Given the description of an element on the screen output the (x, y) to click on. 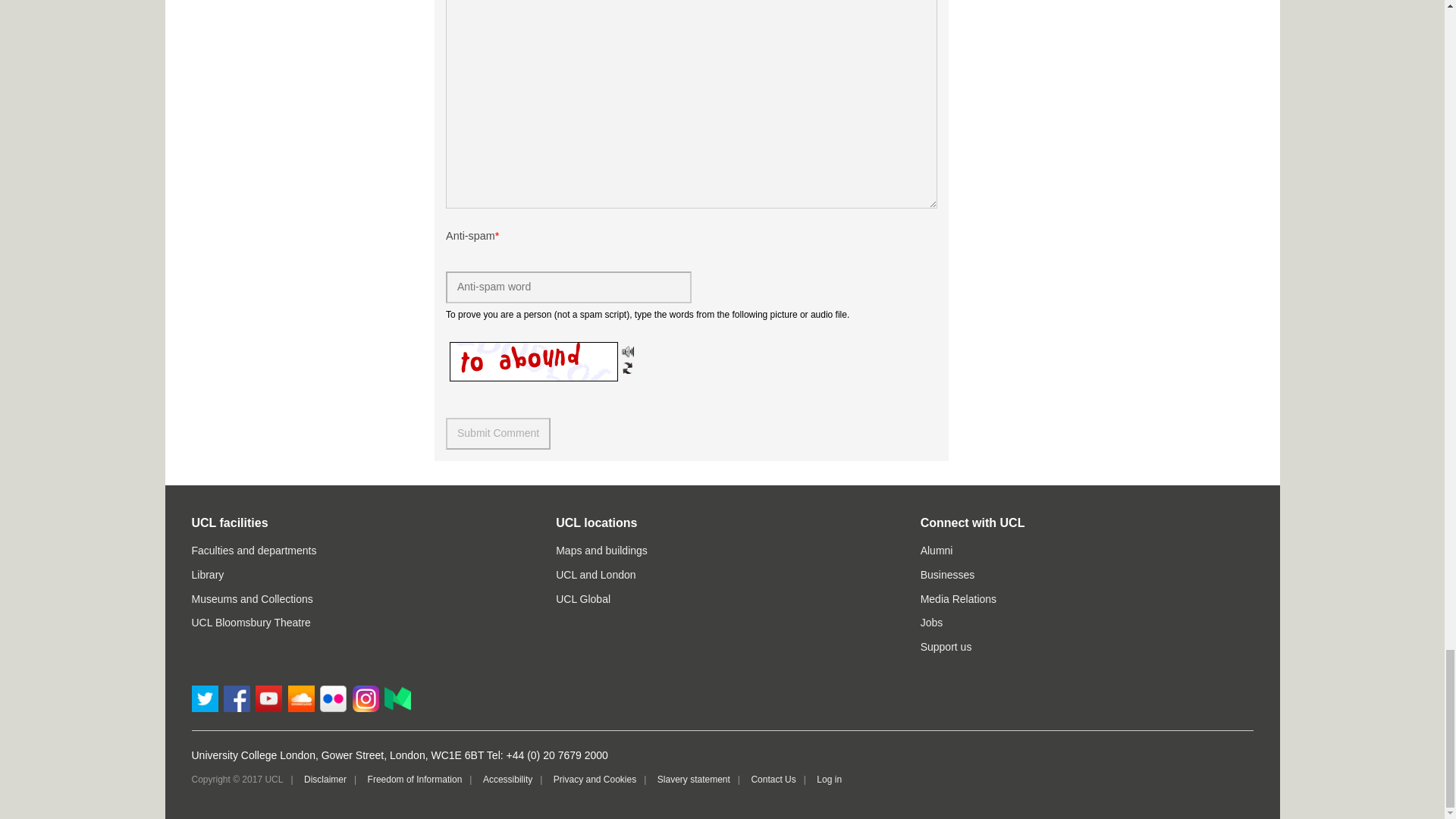
Load new (627, 367)
Submit Comment (497, 433)
Listen (627, 351)
